Given the description of an element on the screen output the (x, y) to click on. 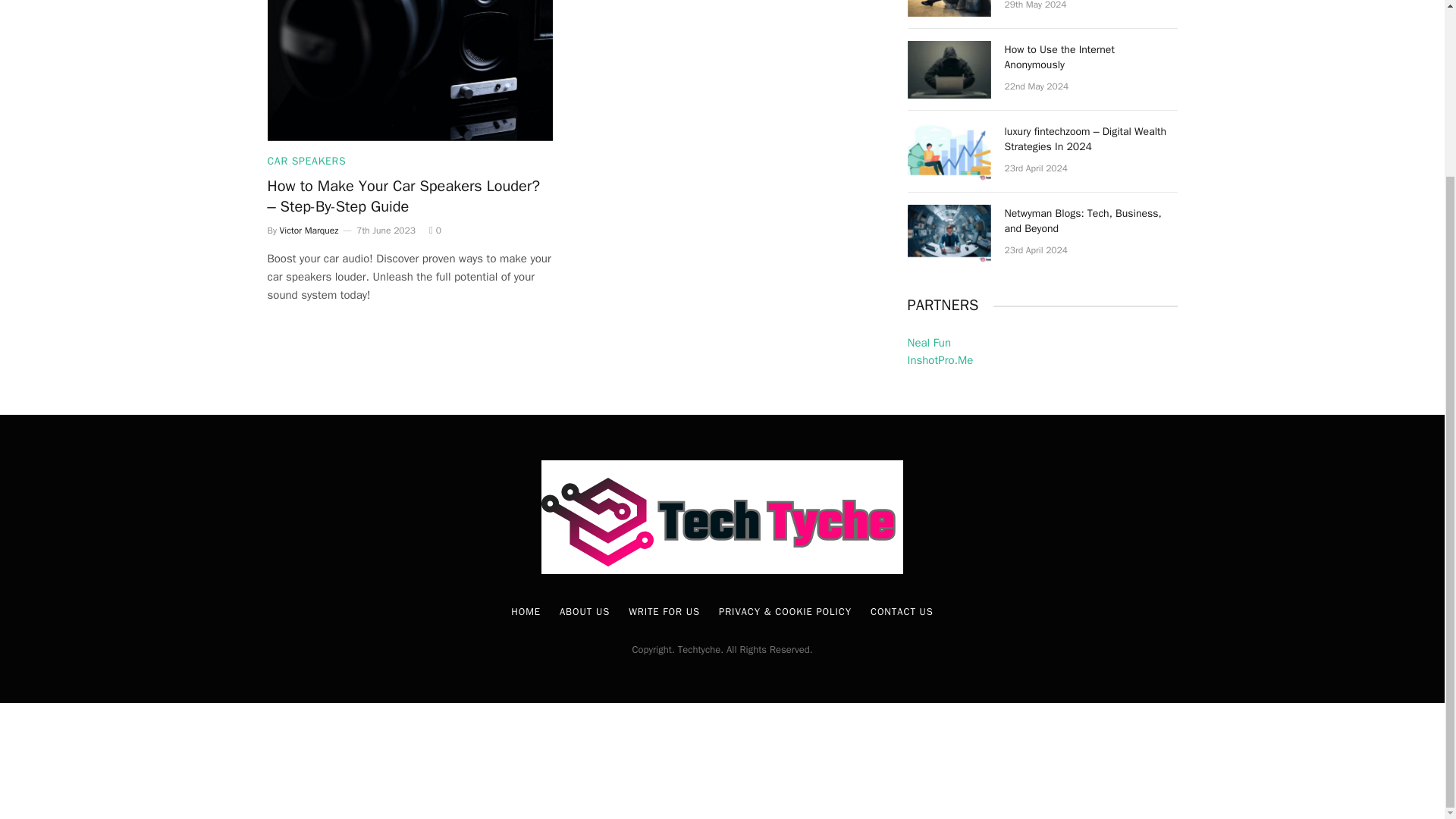
Which Variation of Online Poker Is Right for You? (948, 8)
How to Use the Internet Anonymously (948, 69)
Posts by Victor Marquez (309, 230)
Netwyman Blogs: Tech, Business, and Beyond (948, 233)
